Given the description of an element on the screen output the (x, y) to click on. 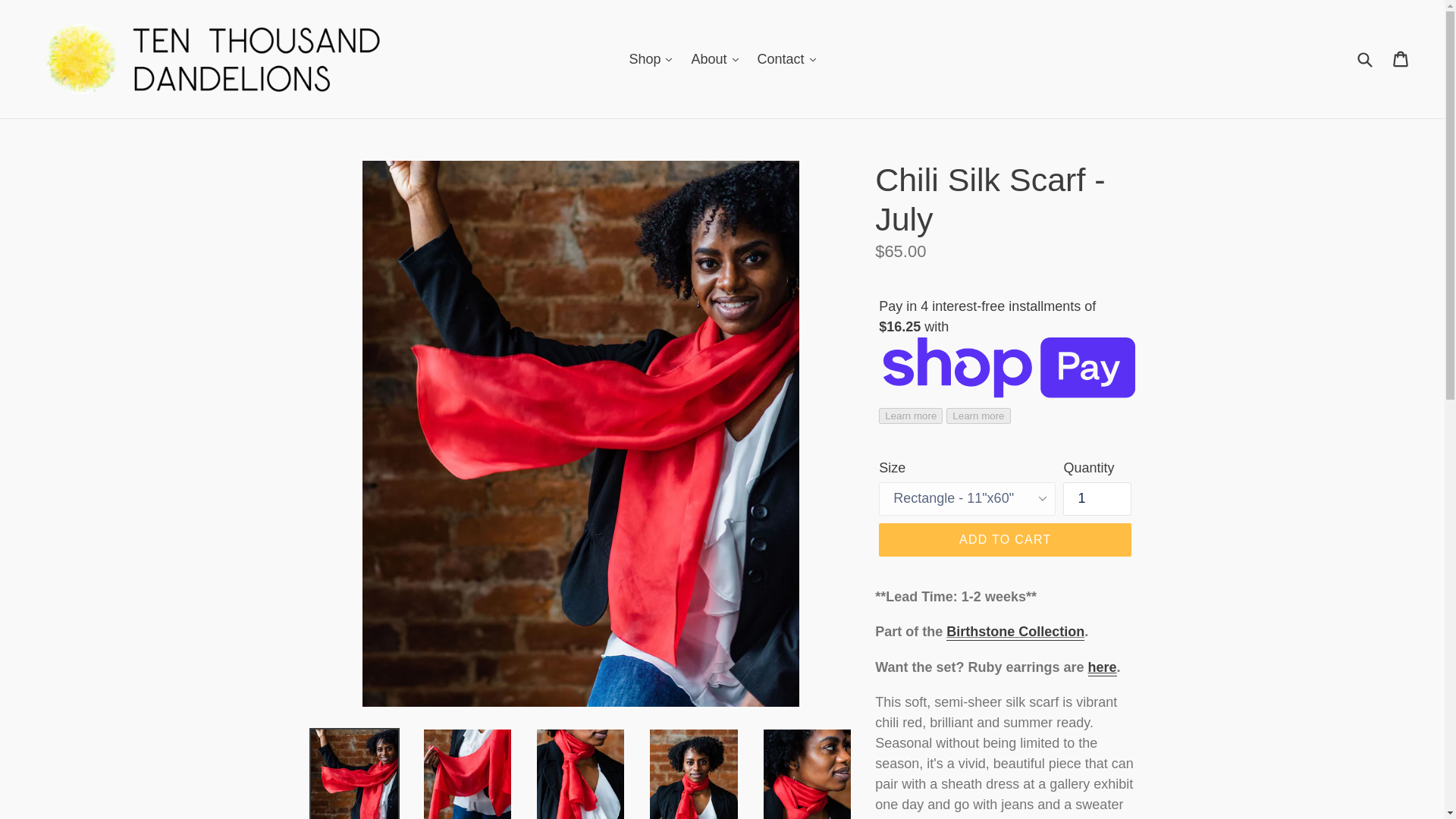
1 (1096, 498)
link to Ten Thousand Dandelions full birthstone collection (1015, 632)
Red ruby drop earring product listing (1101, 668)
